Given the description of an element on the screen output the (x, y) to click on. 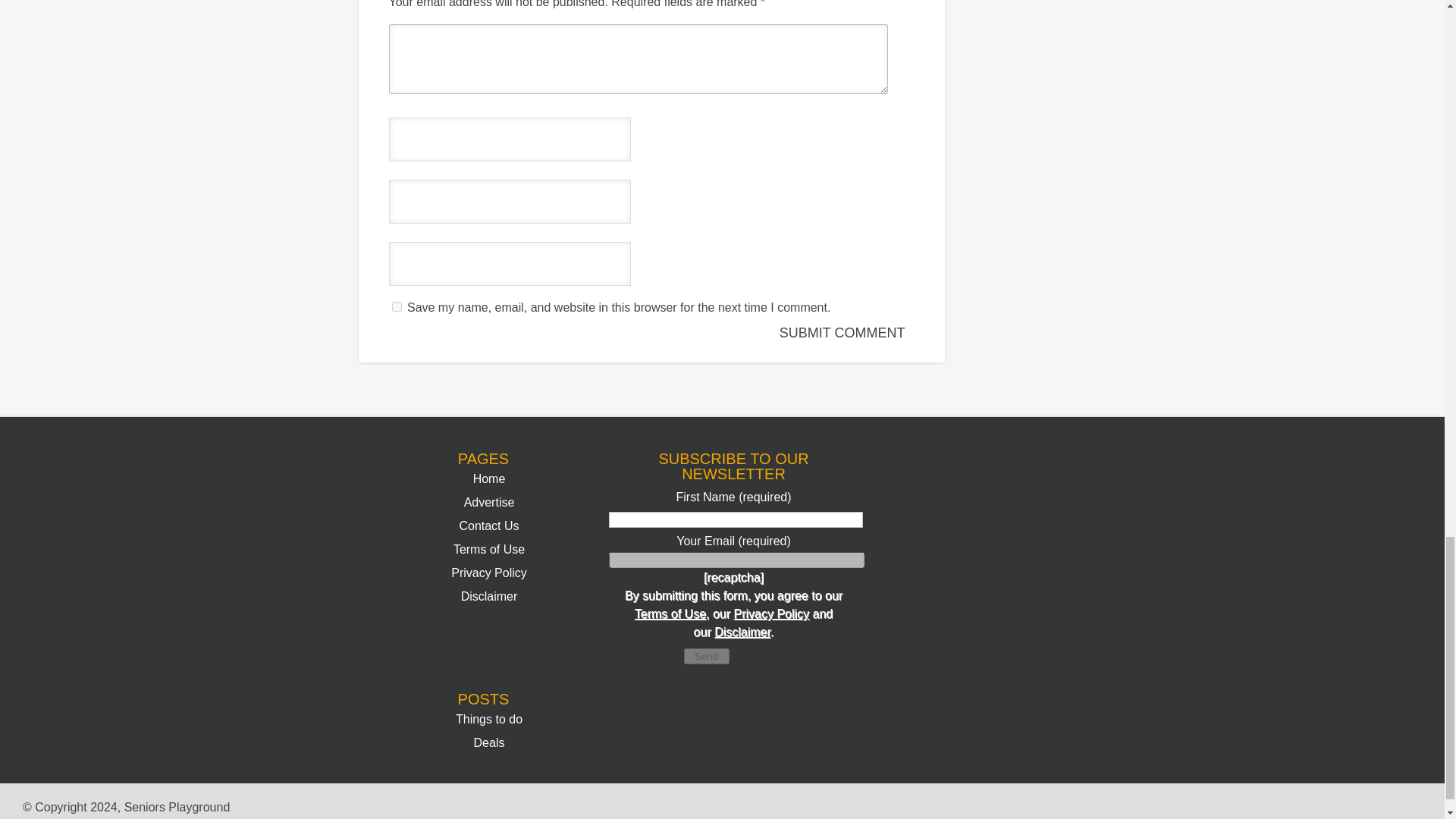
Send (706, 656)
Terms of Use (670, 613)
Things to do (488, 718)
Privacy Policy (489, 572)
Home (489, 478)
Terms of Use (488, 549)
Submit Comment (844, 333)
Submit Comment (844, 333)
Send (706, 656)
Privacy Policy (771, 613)
Disclaimer (489, 595)
Disclaimer (742, 631)
Advertise (489, 502)
Contact Us (488, 525)
Deals (489, 742)
